Given the description of an element on the screen output the (x, y) to click on. 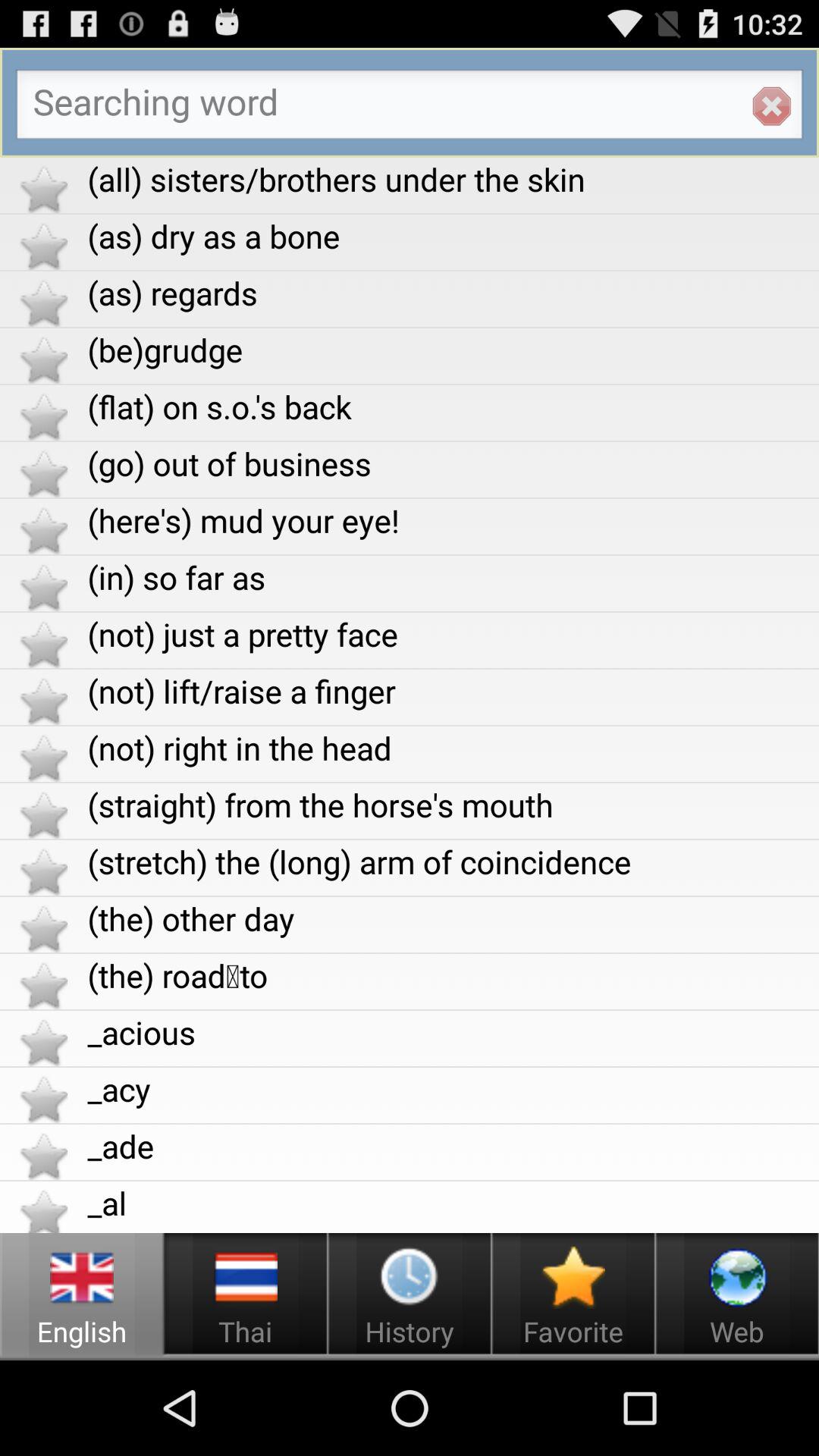
press the flat on s (453, 406)
